Given the description of an element on the screen output the (x, y) to click on. 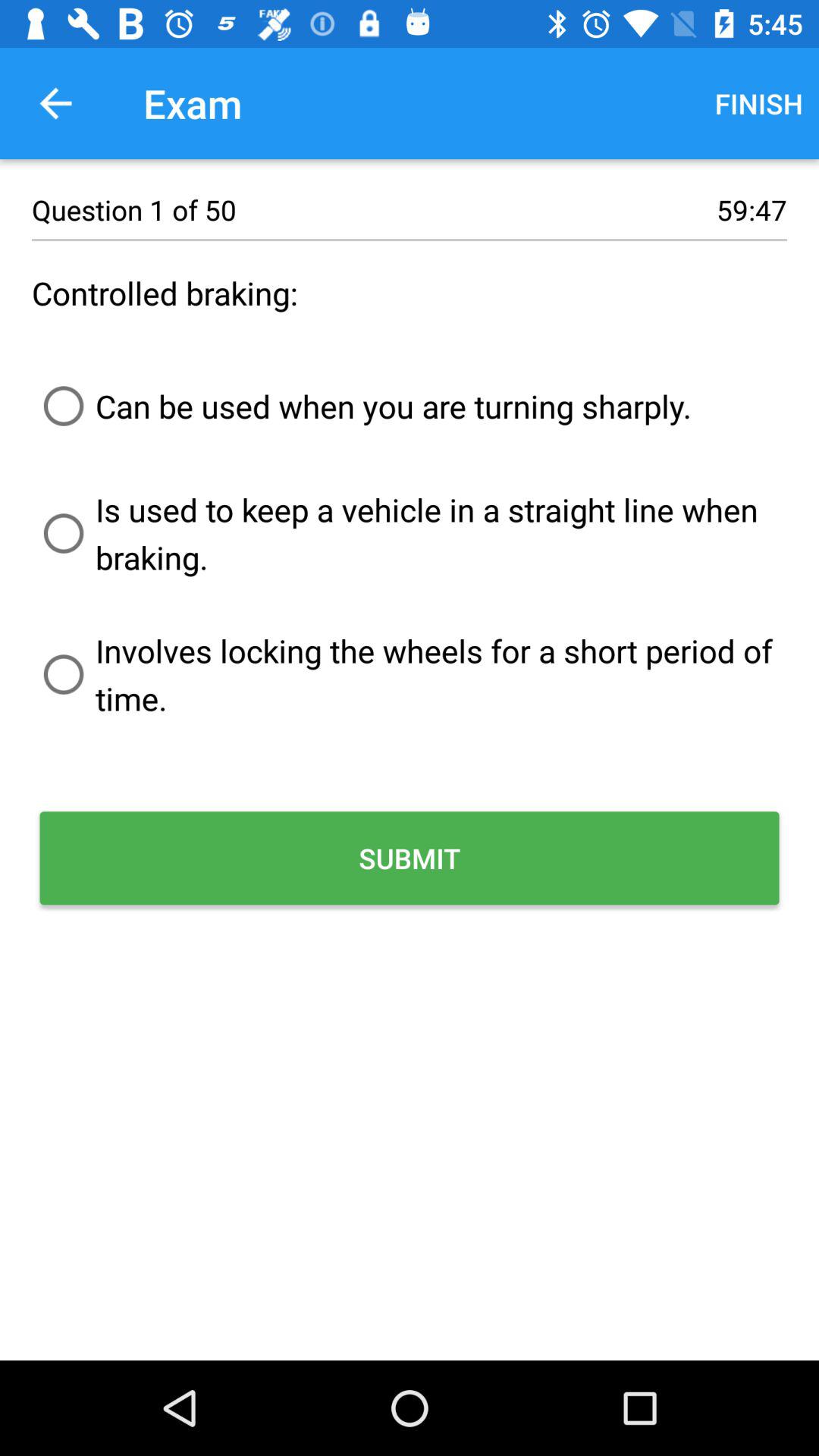
turn on item next to the exam (55, 103)
